Given the description of an element on the screen output the (x, y) to click on. 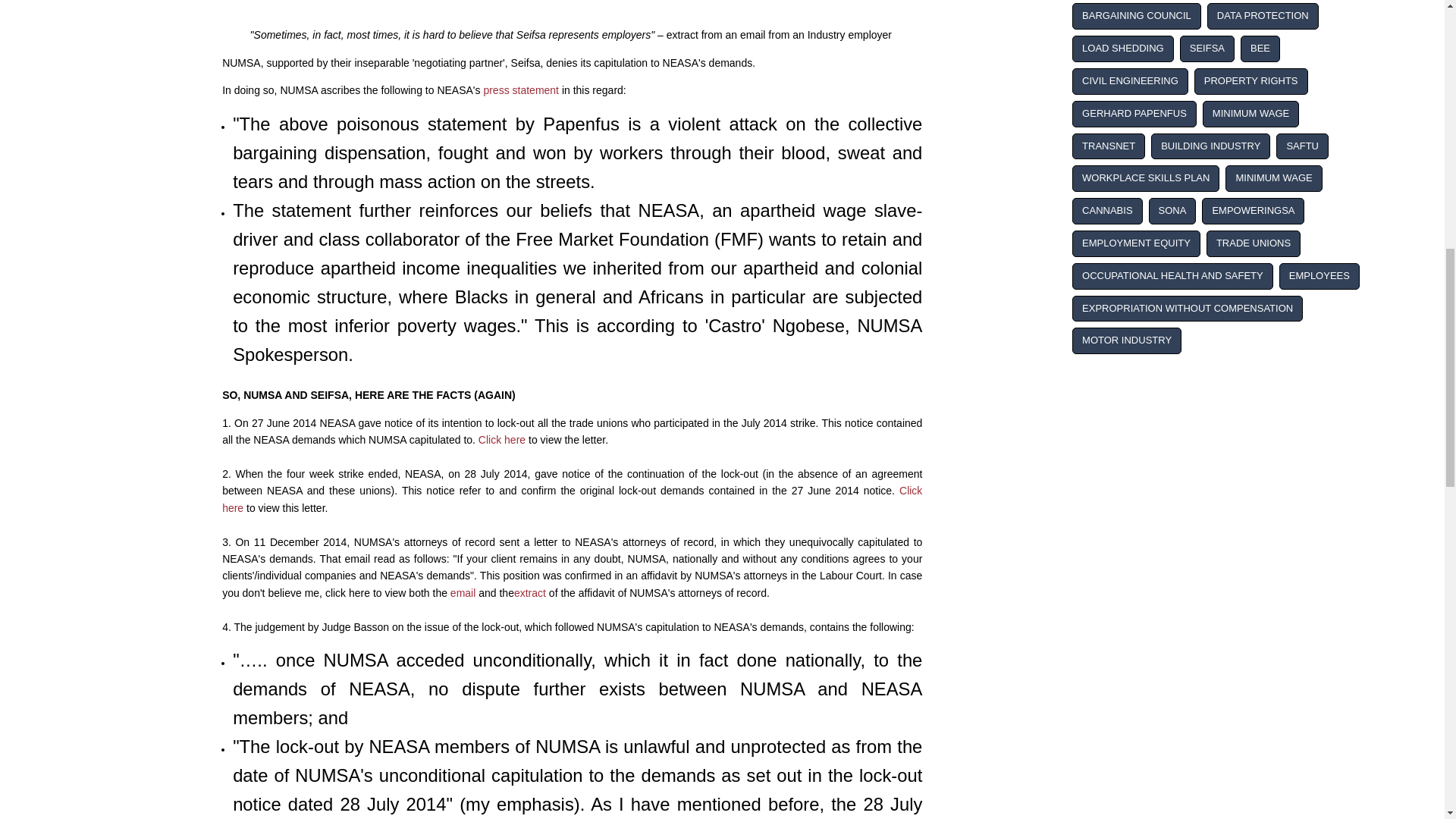
Click here (502, 439)
press statement (521, 90)
Click here (571, 498)
email (462, 592)
extract (529, 592)
